Given the description of an element on the screen output the (x, y) to click on. 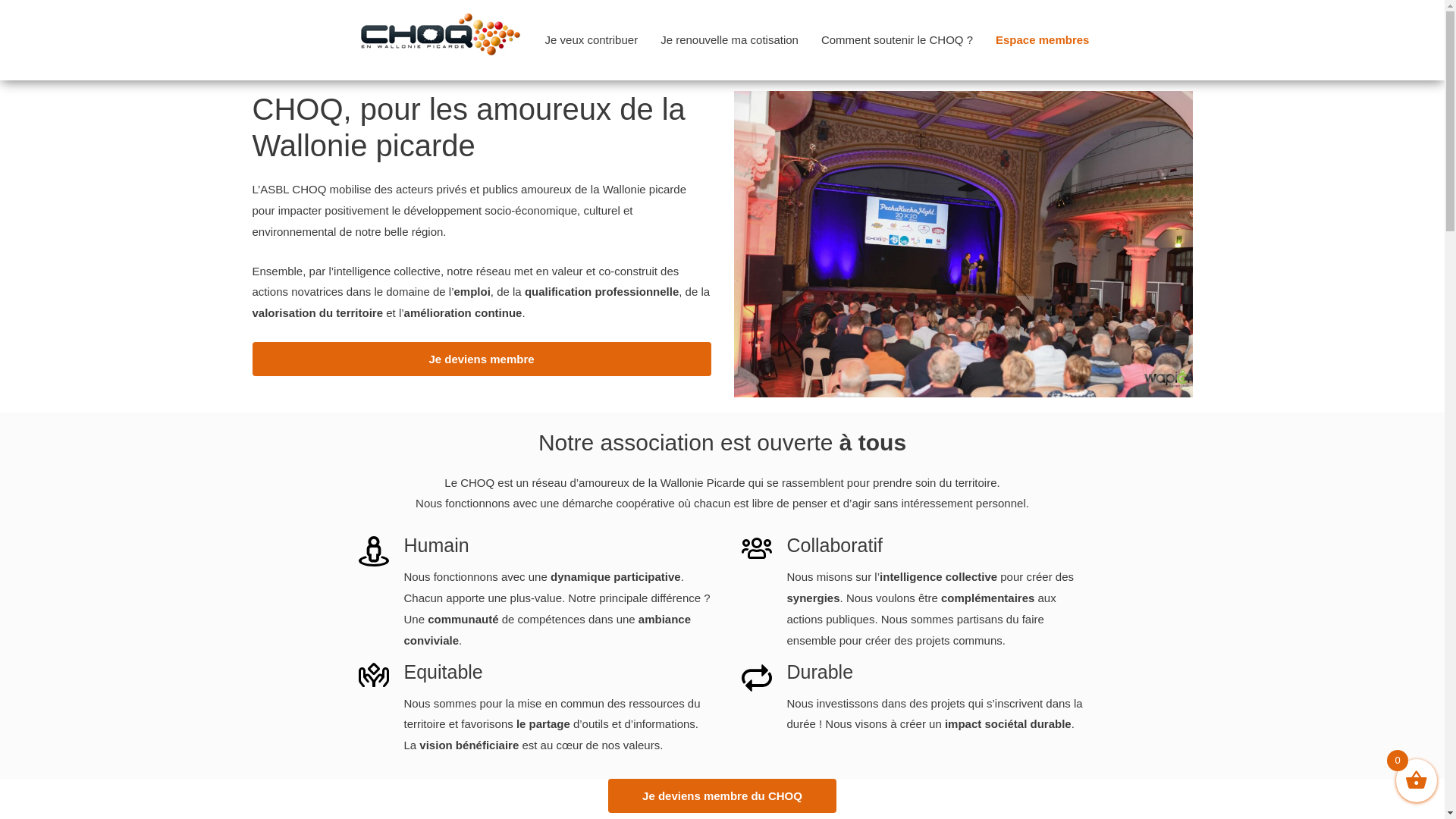
Je renouvelle ma cotisation Element type: text (729, 39)
Je deviens membre du CHOQ Element type: text (722, 795)
Je deviens membre Element type: text (480, 359)
Comment soutenir le CHOQ ? Element type: text (896, 39)
Je veux contribuer Element type: text (591, 39)
Espace membres Element type: text (1041, 39)
